Given the description of an element on the screen output the (x, y) to click on. 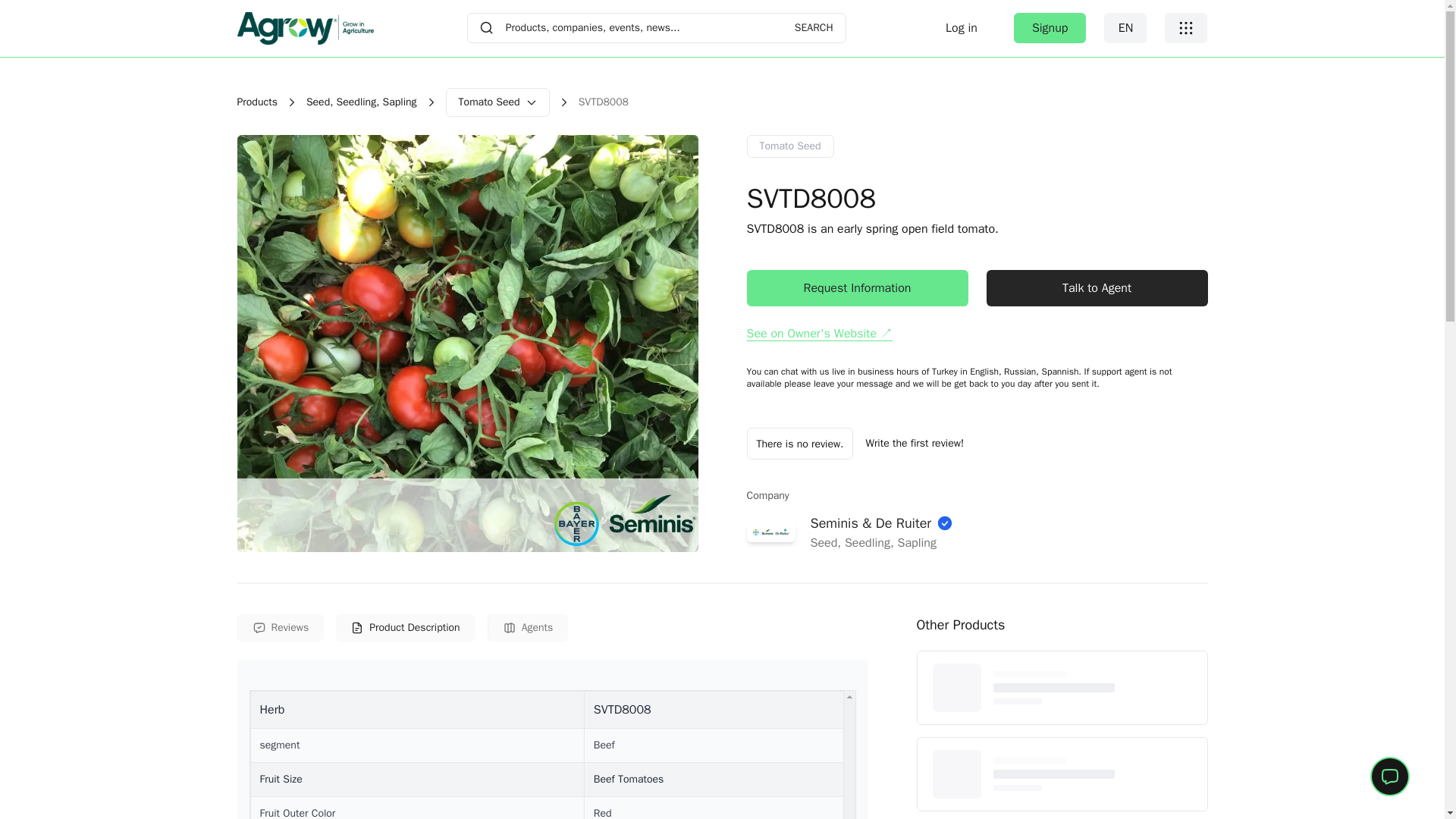
Reviews (279, 627)
Product Description (405, 627)
Talk to Agent (656, 28)
Products (1096, 288)
Signup (255, 101)
EN (1049, 28)
Tomato Seed (1125, 28)
Agents (788, 146)
Tomato Seed (528, 627)
Log in (548, 627)
Write the first review! (497, 102)
Request Information (961, 28)
Seed, Seedling, Sapling (913, 443)
